Given the description of an element on the screen output the (x, y) to click on. 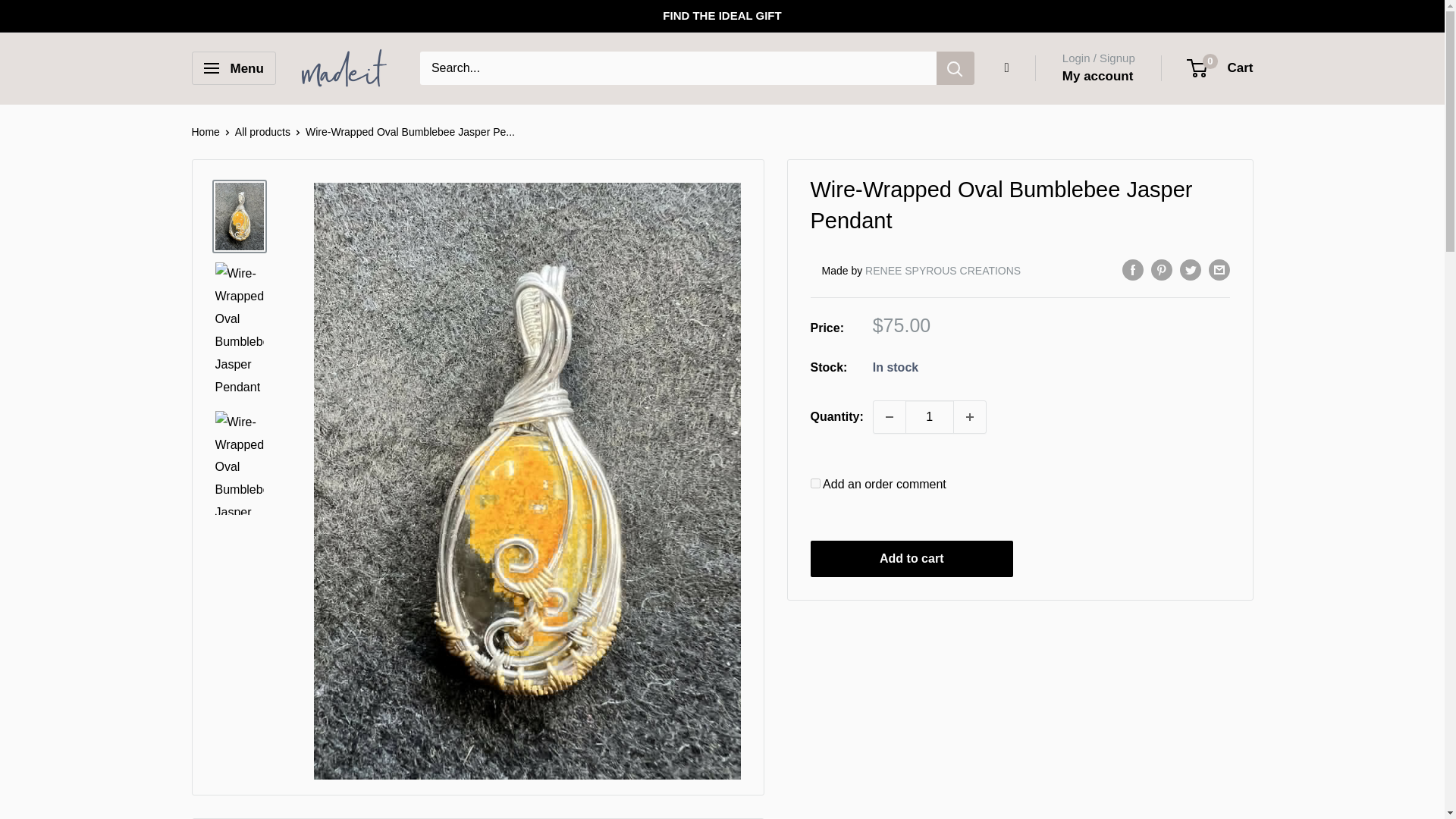
FIND THE IDEAL GIFT (721, 15)
1 (929, 417)
Decrease quantity by 1 (889, 417)
on (814, 483)
Increase quantity by 1 (969, 417)
